Given the description of an element on the screen output the (x, y) to click on. 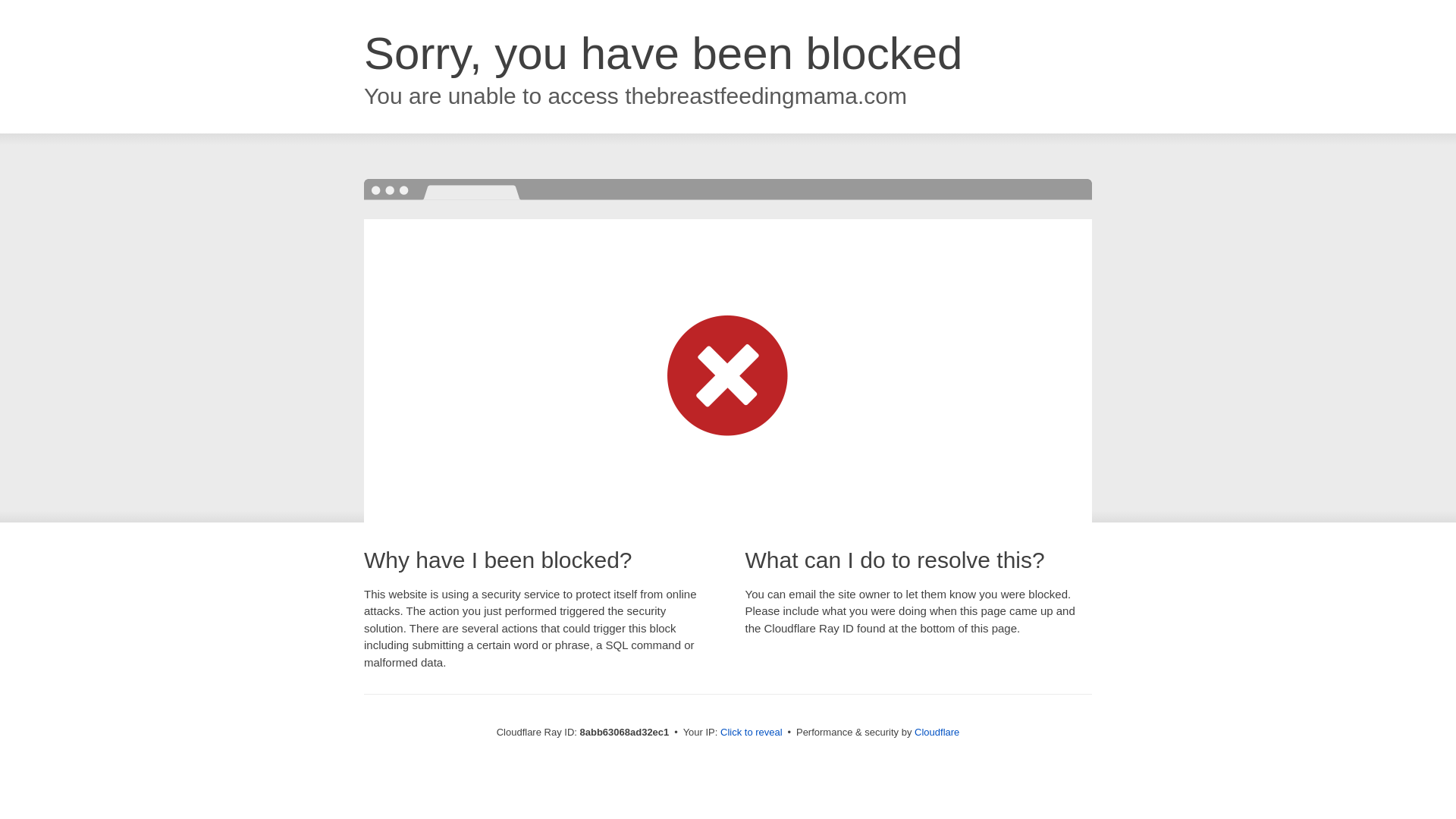
Cloudflare (936, 731)
Click to reveal (751, 732)
